Given the description of an element on the screen output the (x, y) to click on. 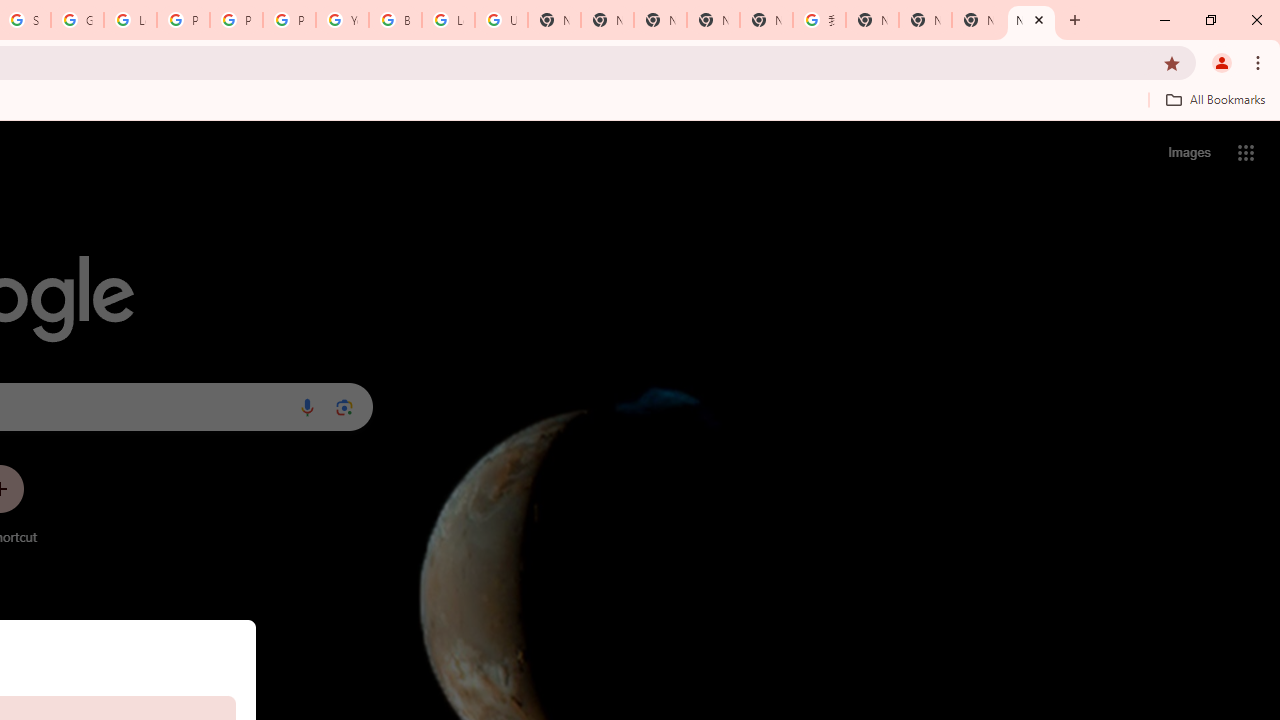
YouTube (342, 20)
Privacy Help Center - Policies Help (183, 20)
New Tab (660, 20)
New Tab (1031, 20)
